Given the description of an element on the screen output the (x, y) to click on. 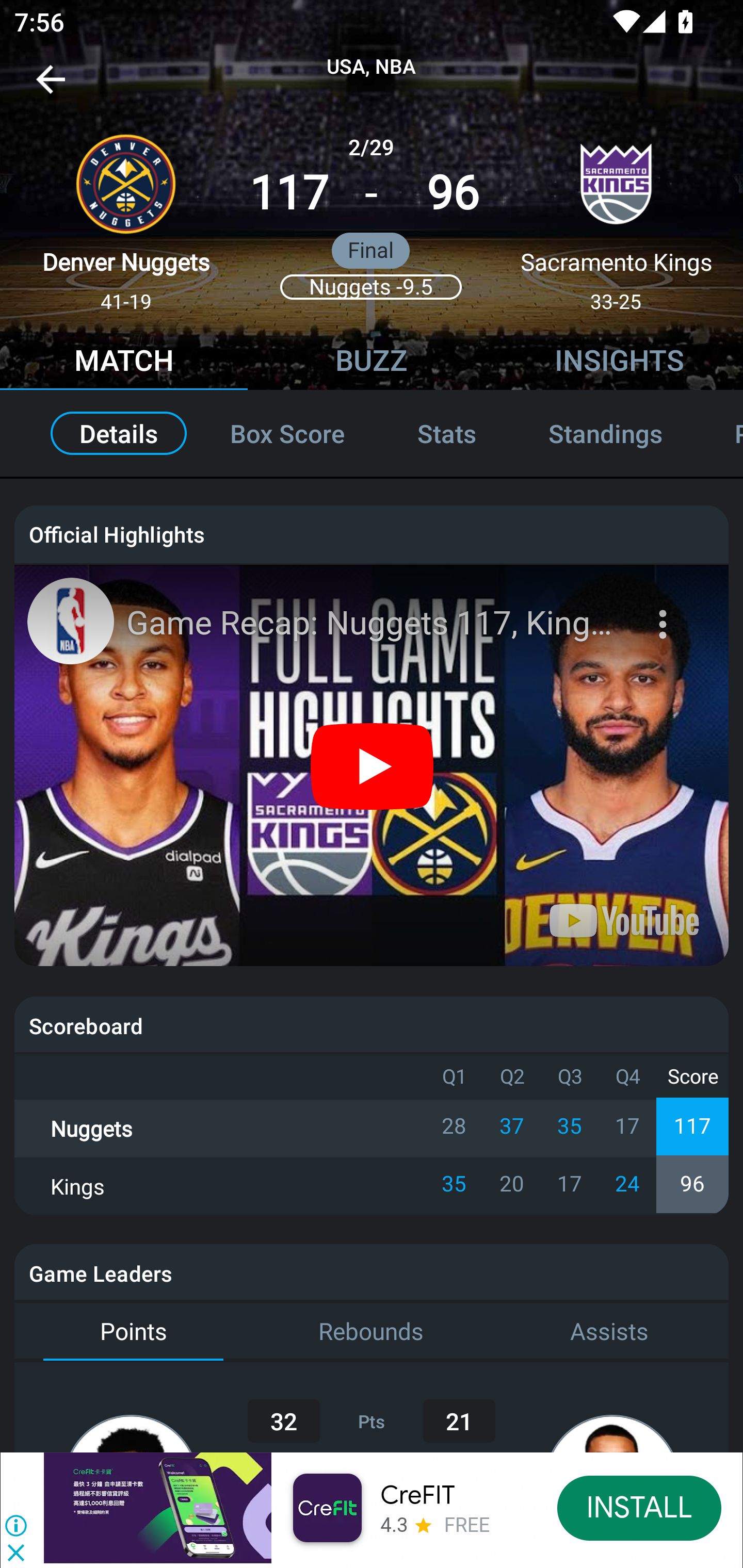
Navigate up (50, 86)
USA, NBA (371, 66)
Denver Nuggets 41-19 (126, 214)
Sacramento Kings 33-25 (616, 214)
MATCH (123, 362)
BUZZ (371, 362)
INSIGHTS (619, 362)
Box Score (287, 433)
Stats (446, 433)
Standings (605, 433)
Official Highlights (371, 533)
More (665, 612)
Photo image of Motion Station (70, 620)
Game Recap: Nuggets 117, Kings 96 (373, 623)
Play (372, 765)
Rebounds (371, 1332)
Assists (609, 1332)
INSTALL (639, 1507)
CreFIT (417, 1494)
